Given the description of an element on the screen output the (x, y) to click on. 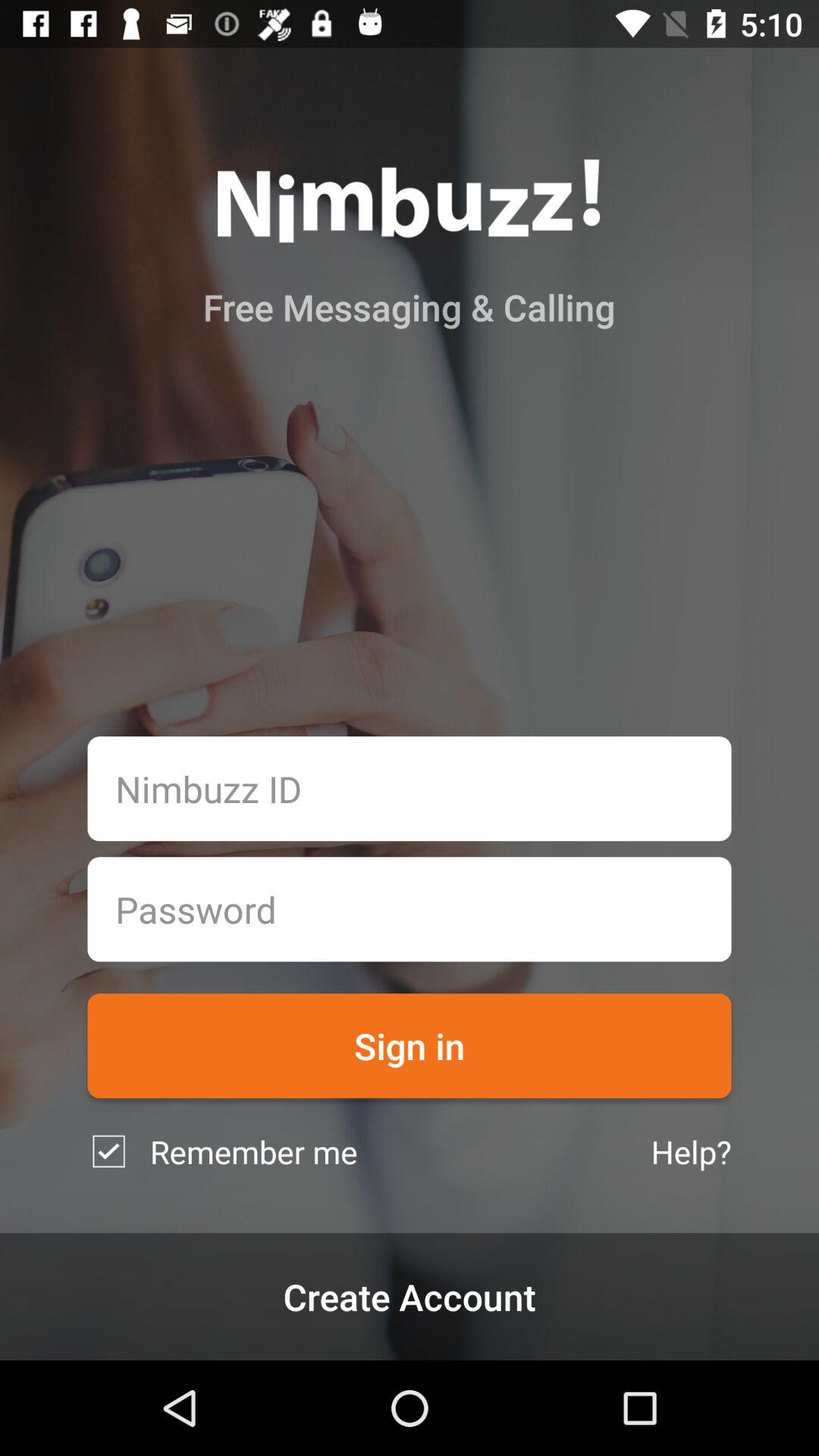
password box (409, 909)
